Given the description of an element on the screen output the (x, y) to click on. 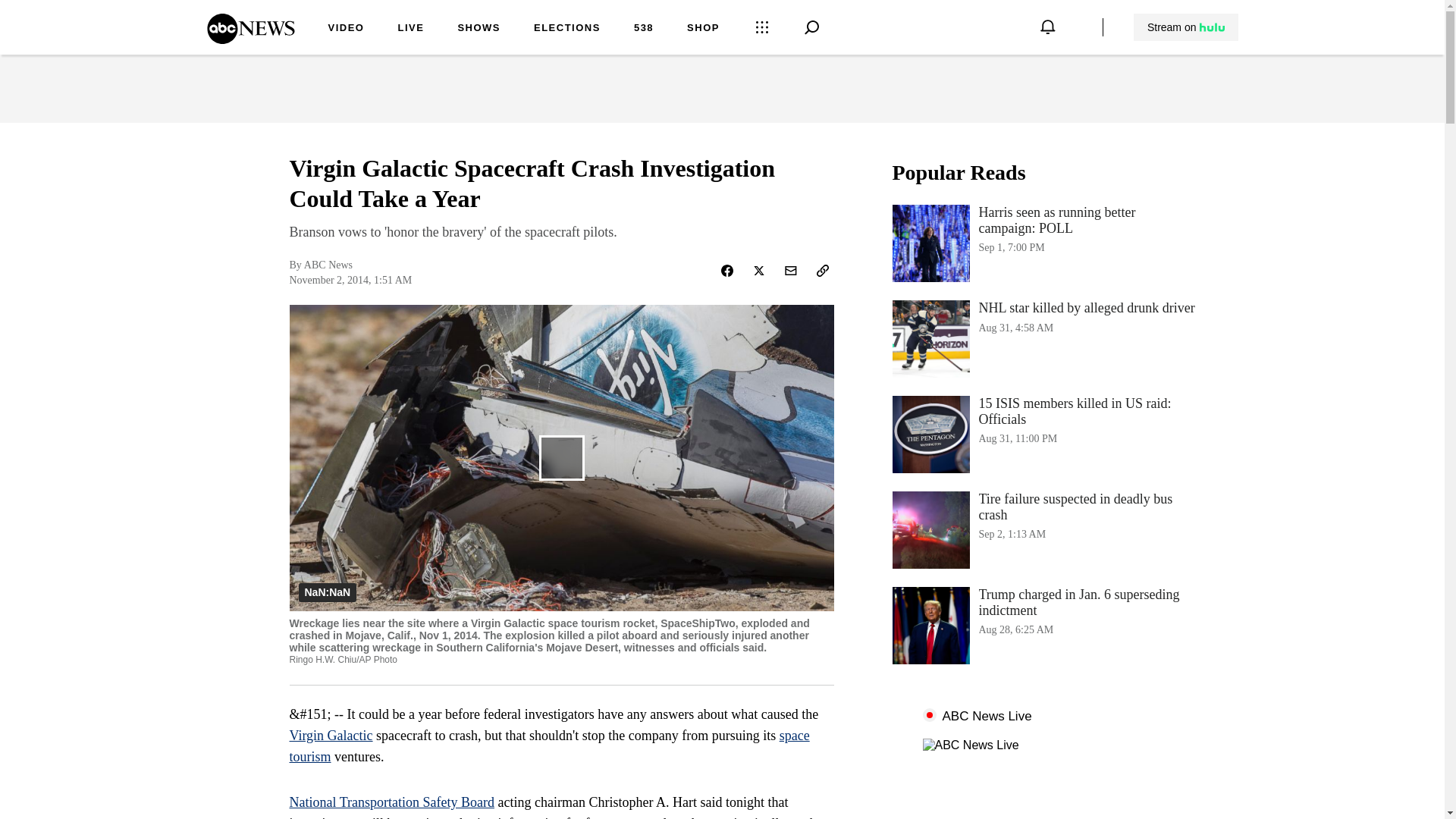
ELECTIONS (566, 28)
space tourism (549, 746)
Stream on (1185, 27)
Stream on (1043, 529)
SHOWS (1186, 26)
ABC News (1043, 242)
